Given the description of an element on the screen output the (x, y) to click on. 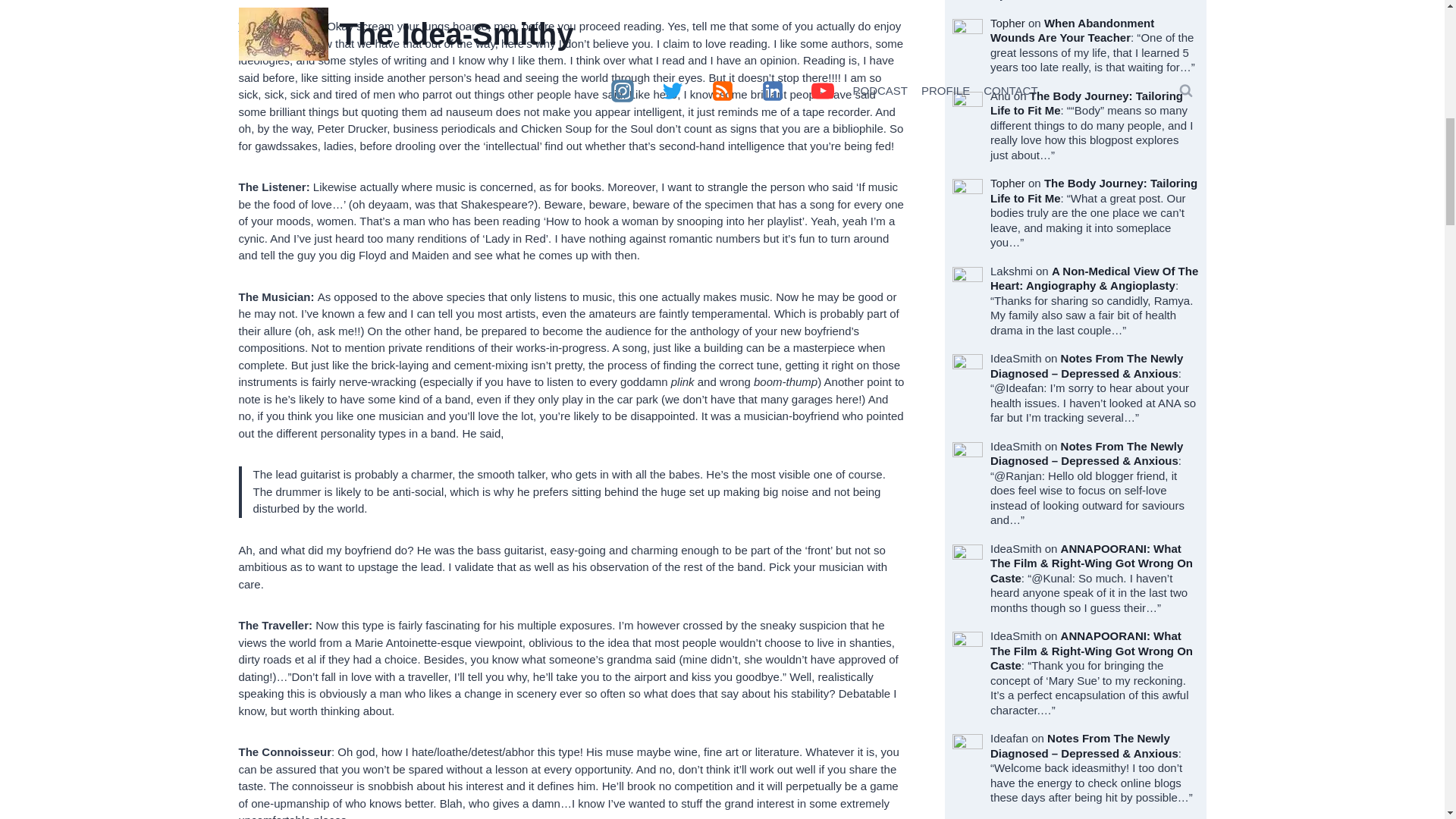
The Bibliophile (279, 25)
